Given the description of an element on the screen output the (x, y) to click on. 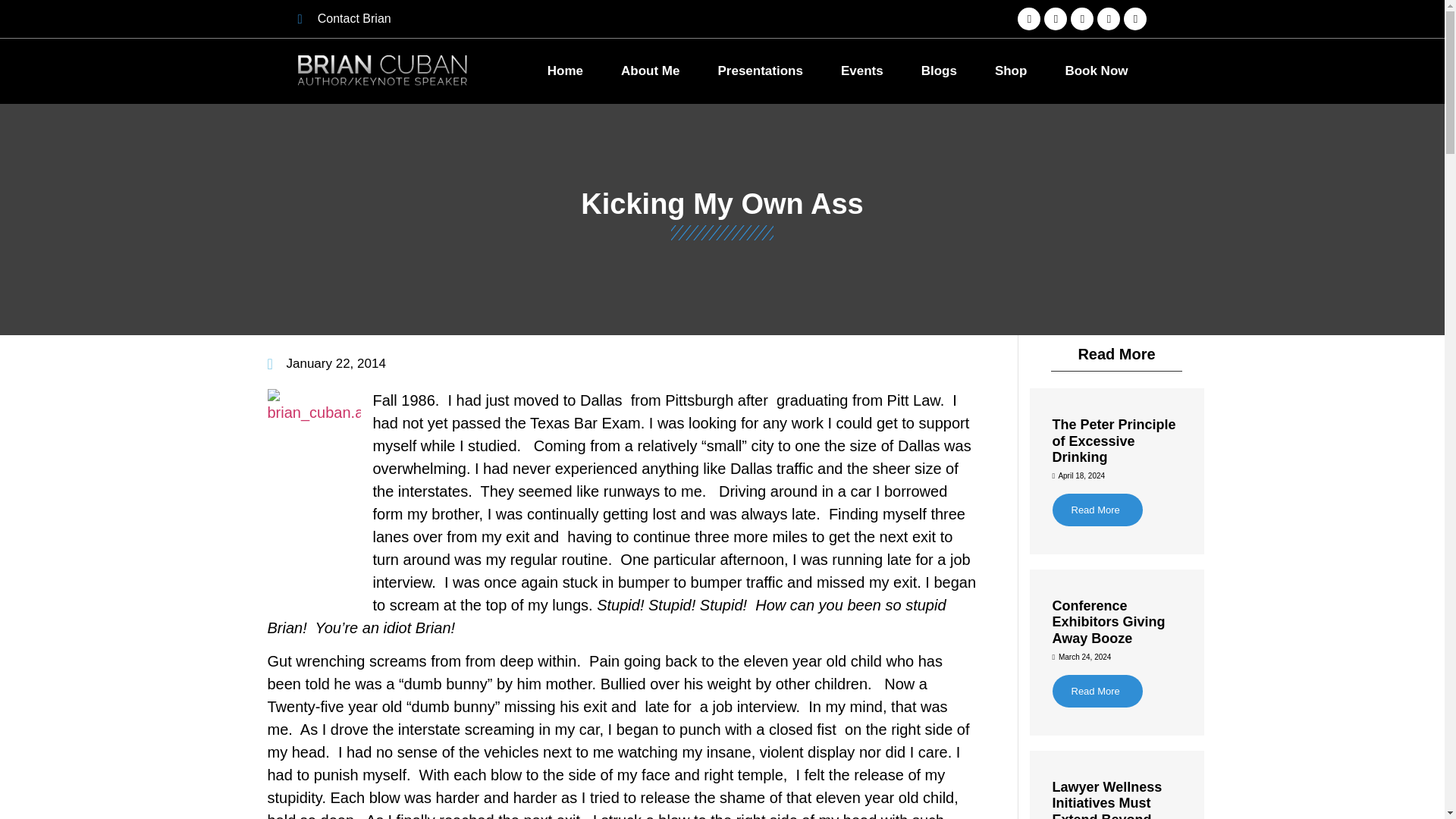
January 22, 2014 (325, 363)
Lawyer Wellness Initiatives Must Extend Beyond Biglaw (1106, 799)
The Peter Principle of Excessive Drinking (1114, 440)
Presentations (759, 70)
Home (565, 70)
Read More (1097, 509)
About Me (650, 70)
Book Now (1096, 70)
Conference Exhibitors Giving Away Booze (1109, 622)
Contact Brian (433, 18)
Read More (1097, 690)
Shop (1010, 70)
Blogs (938, 70)
Events (862, 70)
